Given the description of an element on the screen output the (x, y) to click on. 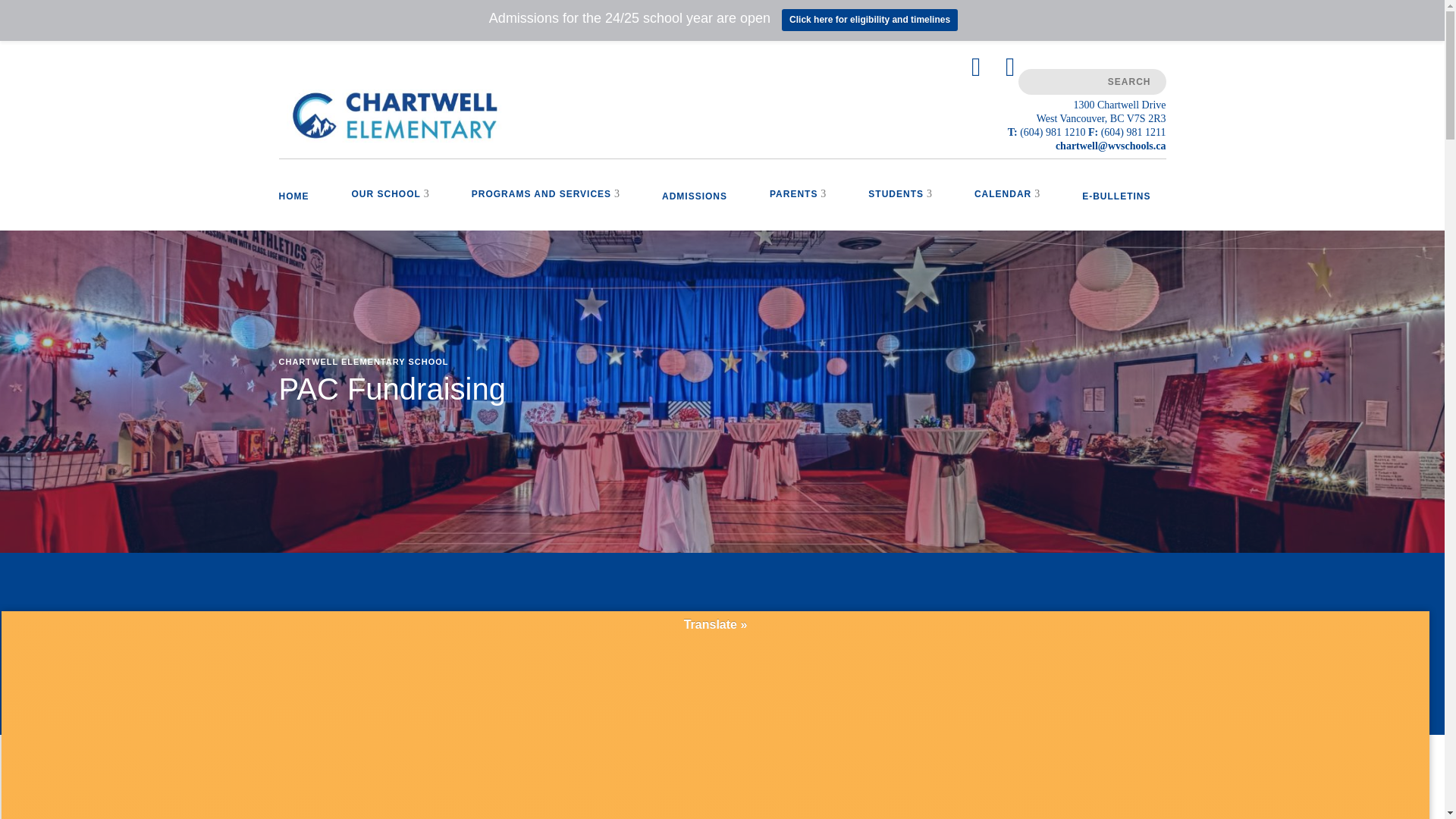
PARENTS (793, 209)
PROGRAMS AND SERVICES (541, 209)
Cheque writing campaign Banner No QR - 1 (836, 807)
E-BULLETINS (1115, 210)
STUDENTS (895, 209)
CALENDAR (1002, 209)
ADMISSIONS (694, 210)
OUR SCHOOL (386, 209)
